Given the description of an element on the screen output the (x, y) to click on. 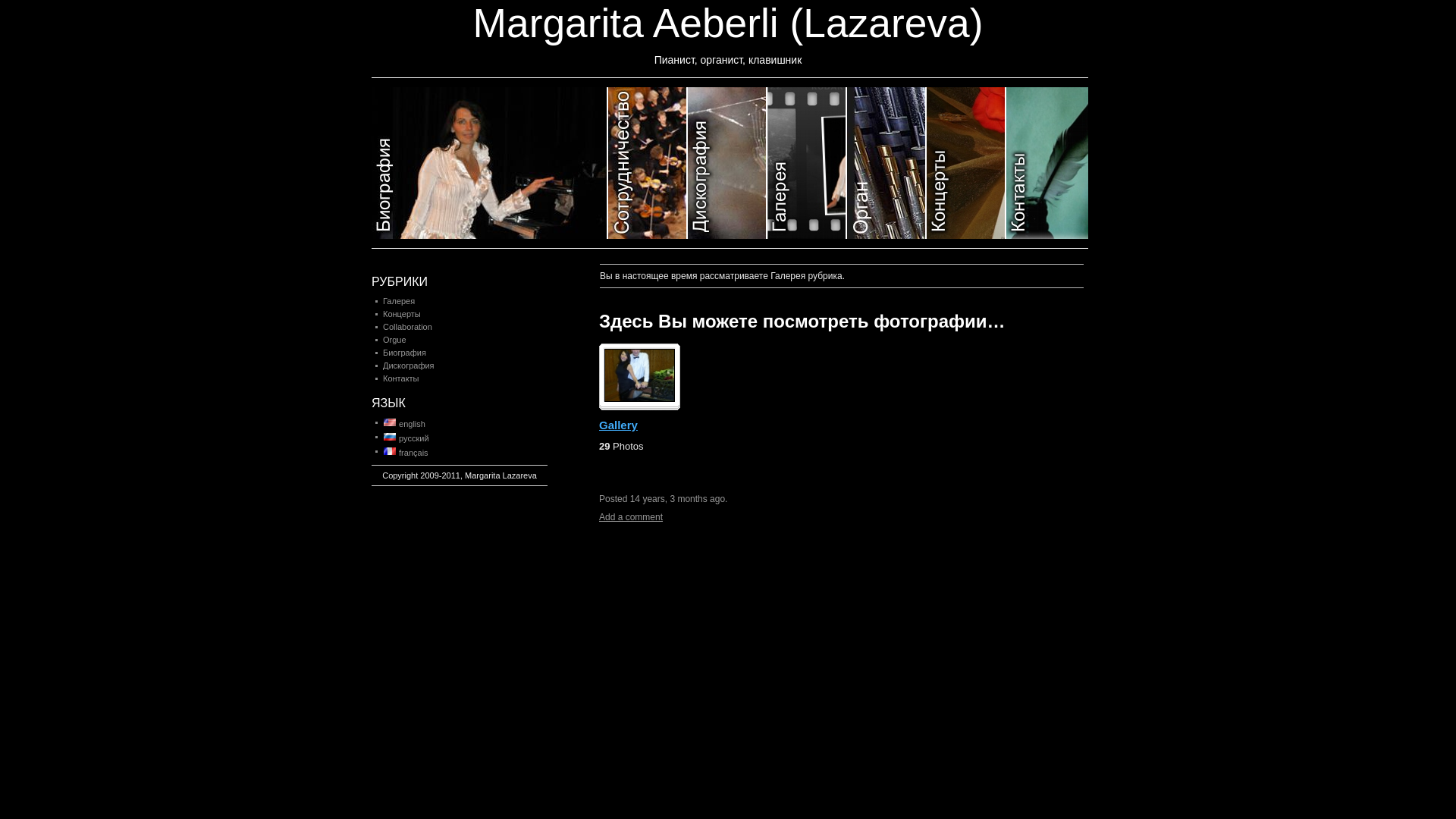
Category 3 Element type: text (727, 162)
Add a comment Element type: text (630, 516)
Category 6 Element type: text (966, 162)
Category 2 Element type: text (647, 162)
Category 4 Element type: text (807, 162)
Category 7 Element type: text (1047, 162)
Category 1 Element type: text (489, 162)
Gallery Element type: text (618, 424)
Orgue Element type: text (394, 339)
english Element type: text (403, 423)
Collaboration Element type: text (407, 326)
Category 5 Element type: text (886, 162)
english Element type: hover (389, 421)
